Given the description of an element on the screen output the (x, y) to click on. 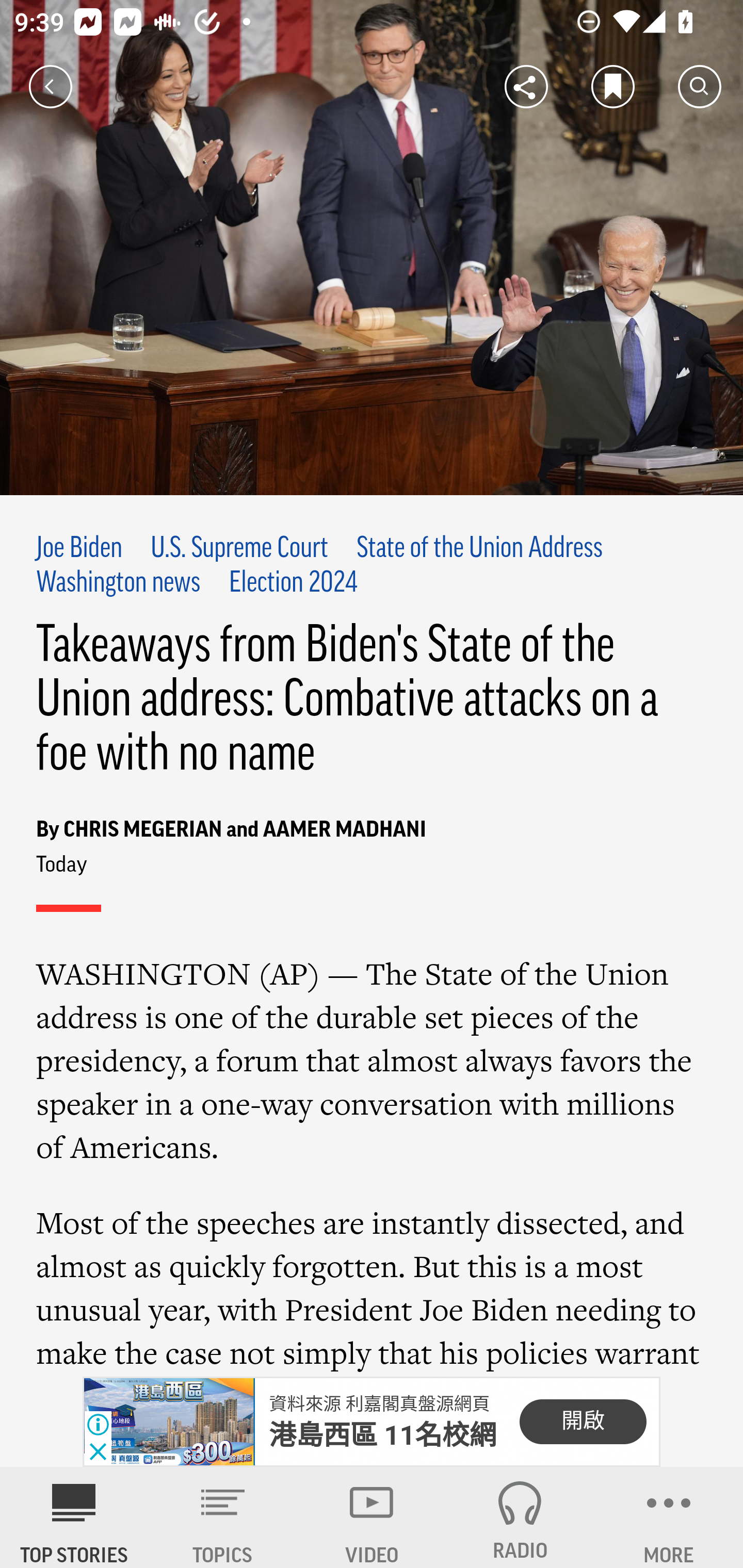
Joe Biden (79, 549)
U.S. Supreme Court (239, 549)
State of the Union Address (479, 549)
Washington news (119, 584)
Election 2024 (292, 584)
資料來源 利嘉閣真盤源網頁 (379, 1403)
開啟 (582, 1421)
港島西區 11名校網 (382, 1434)
AP News TOP STORIES (74, 1517)
TOPICS (222, 1517)
VIDEO (371, 1517)
RADIO (519, 1517)
MORE (668, 1517)
